Given the description of an element on the screen output the (x, y) to click on. 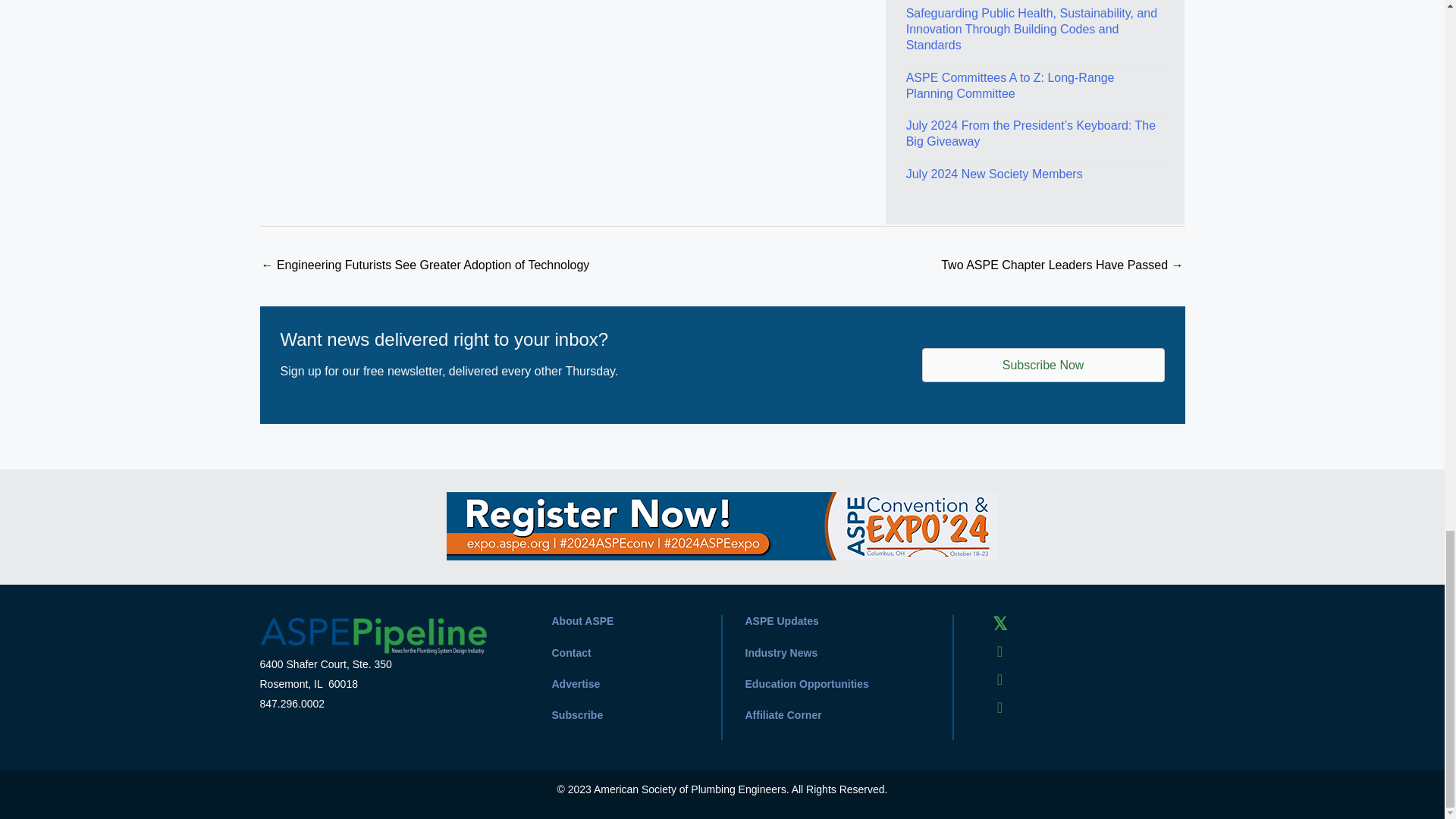
ASPE Committees A to Z: Long-Range Planning Committee (1010, 85)
July 2024 New Society Members (994, 173)
Twitter (1000, 623)
